Given the description of an element on the screen output the (x, y) to click on. 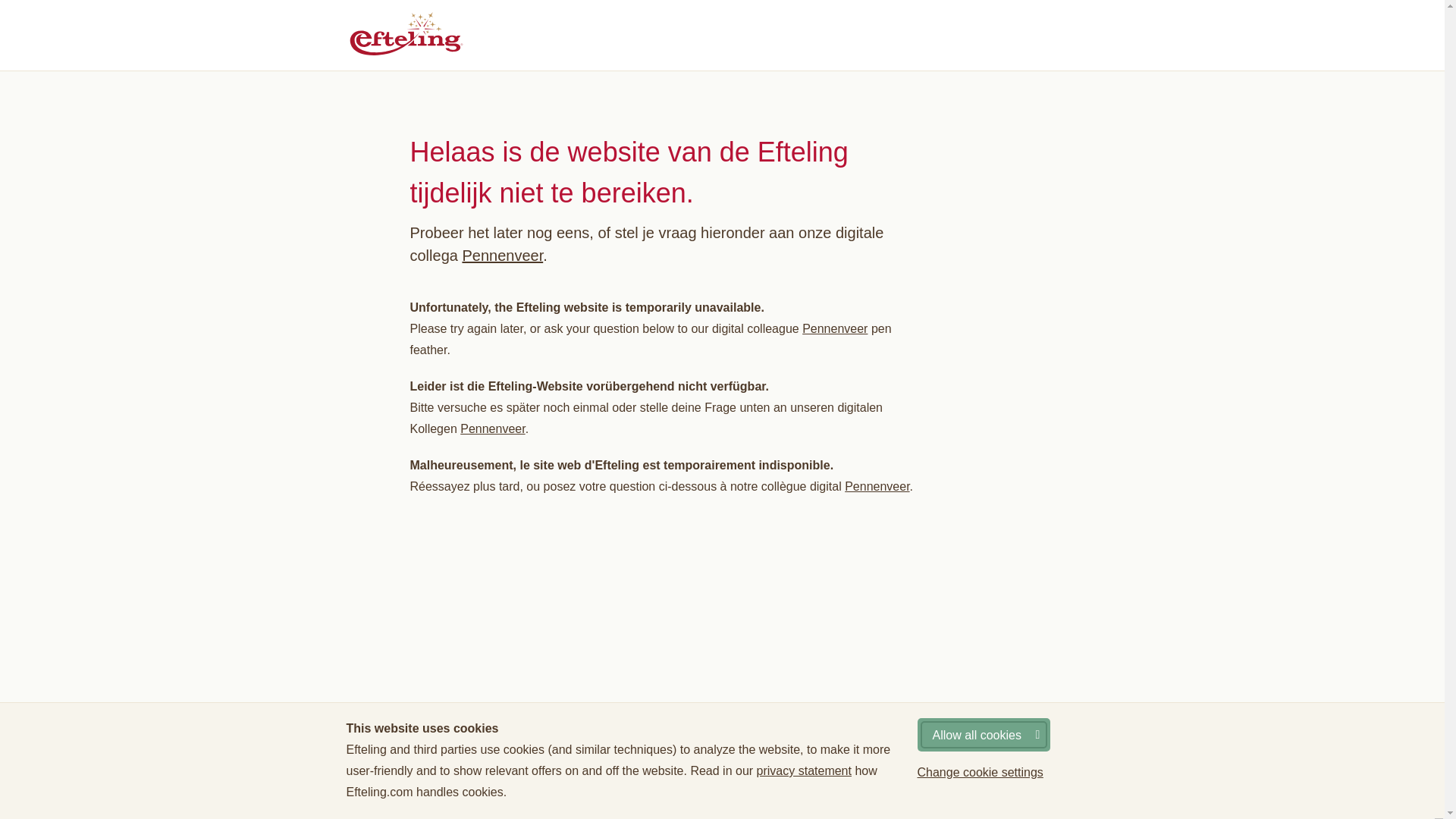
privacy statement (804, 770)
Change cookie settings (980, 772)
Allow all cookies (983, 734)
